Given the description of an element on the screen output the (x, y) to click on. 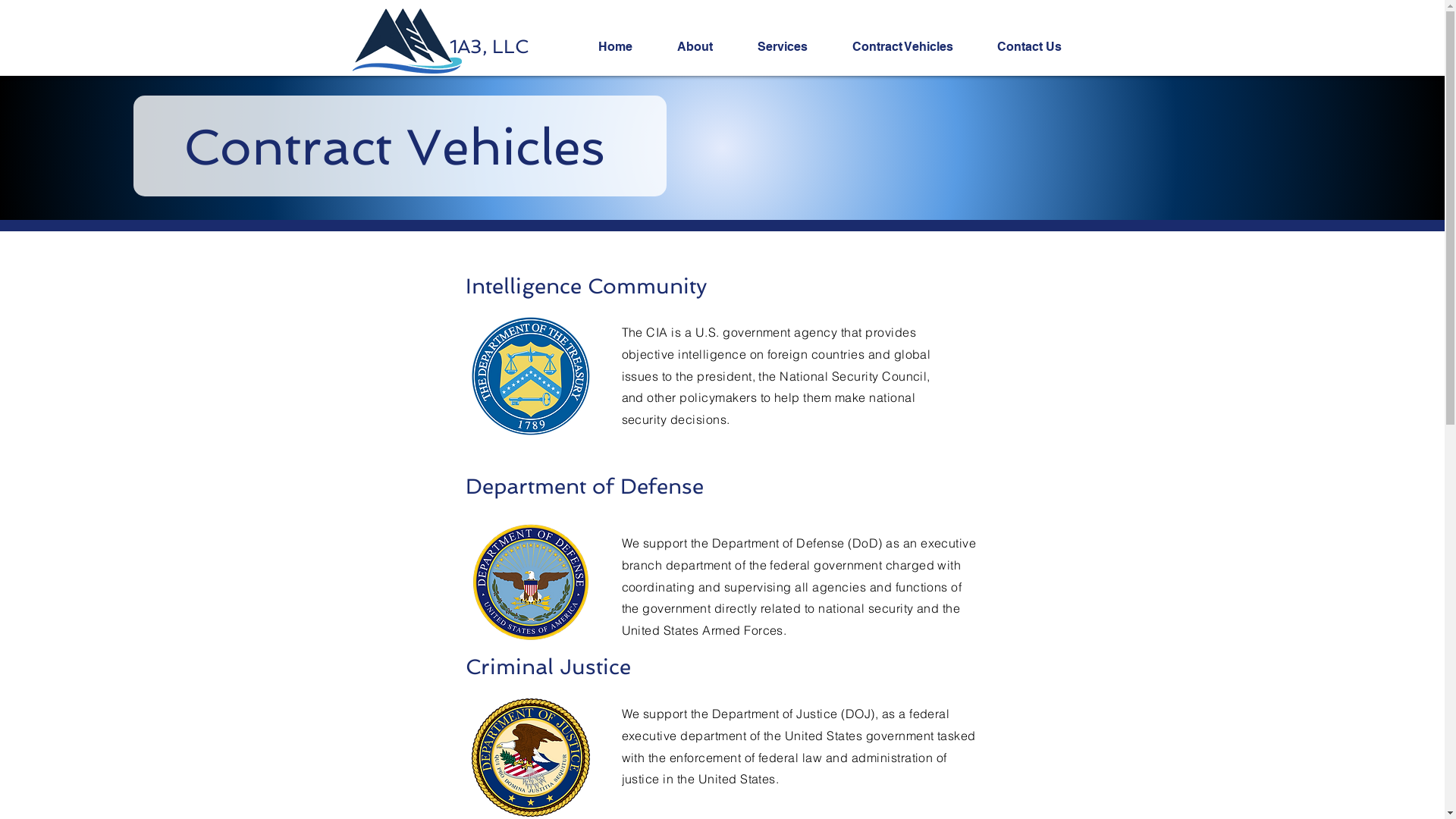
Services Element type: text (793, 46)
Contract Vehicles Element type: text (912, 46)
1A3, LLC Element type: text (487, 46)
About Element type: text (705, 46)
Contact Us Element type: text (1039, 46)
Home Element type: text (625, 46)
